Given the description of an element on the screen output the (x, y) to click on. 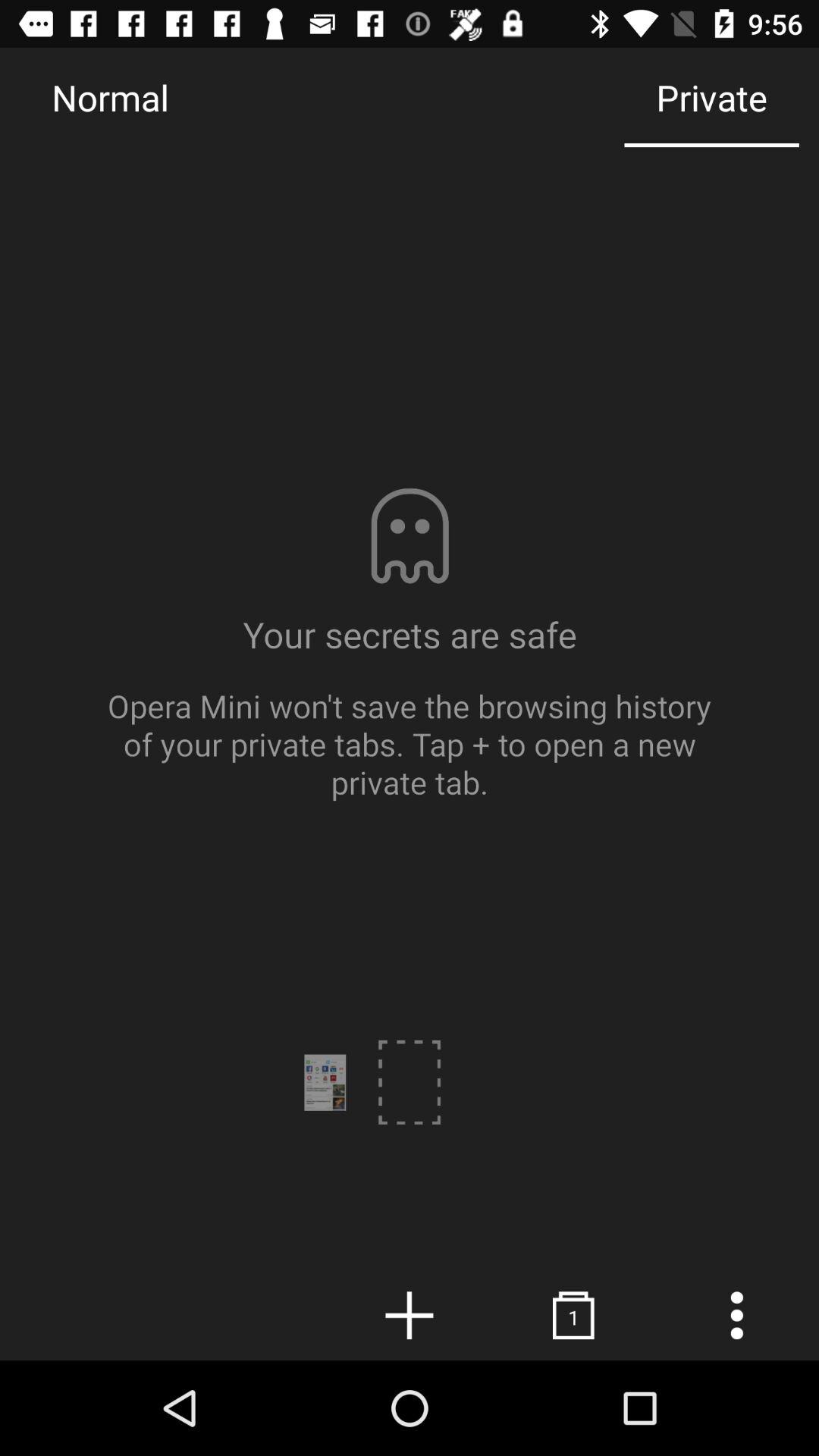
select the icon at the top left corner (109, 97)
